Given the description of an element on the screen output the (x, y) to click on. 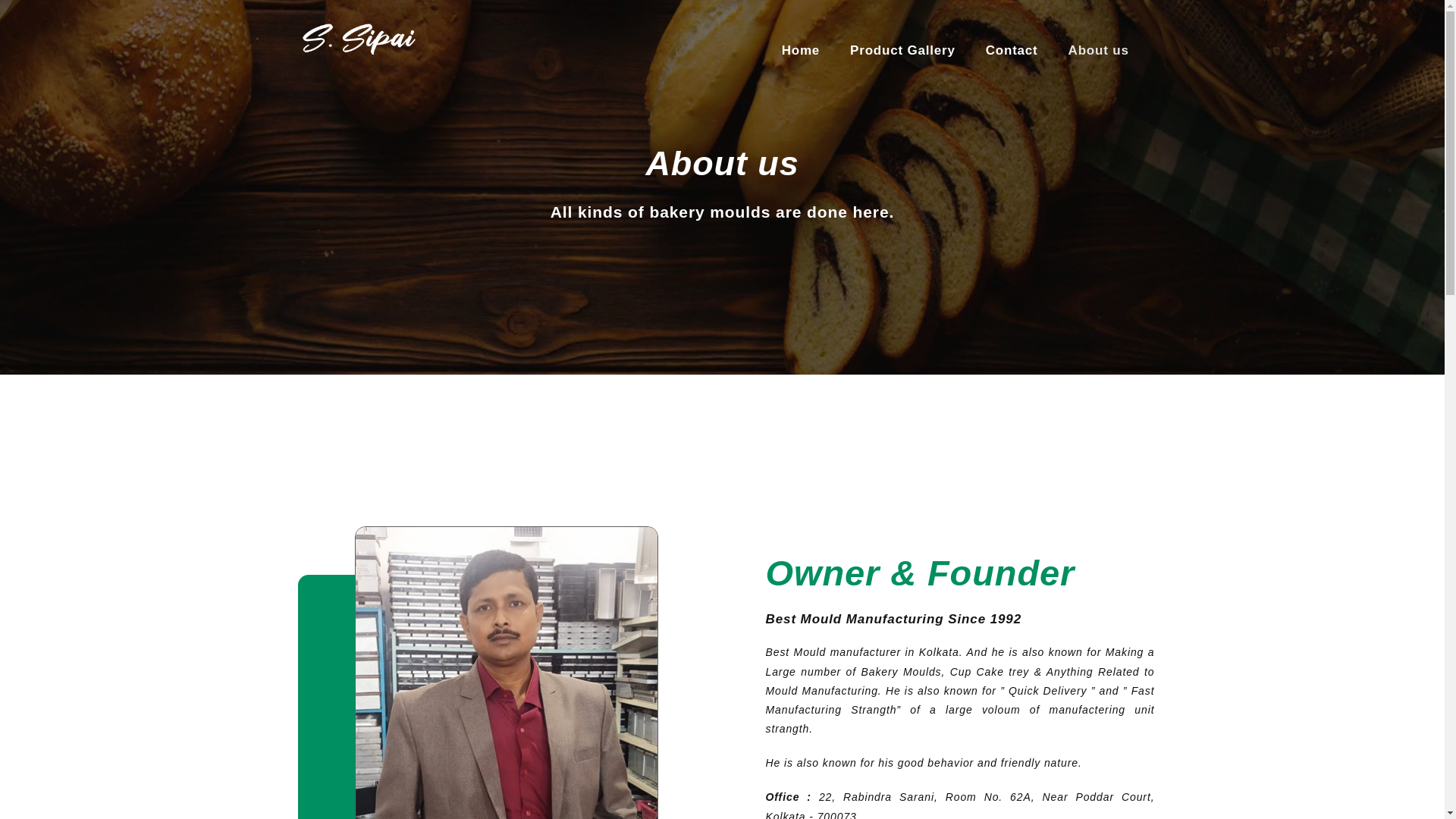
About us (1098, 50)
Contact (1011, 50)
Product Gallery (902, 50)
Home (800, 50)
